Given the description of an element on the screen output the (x, y) to click on. 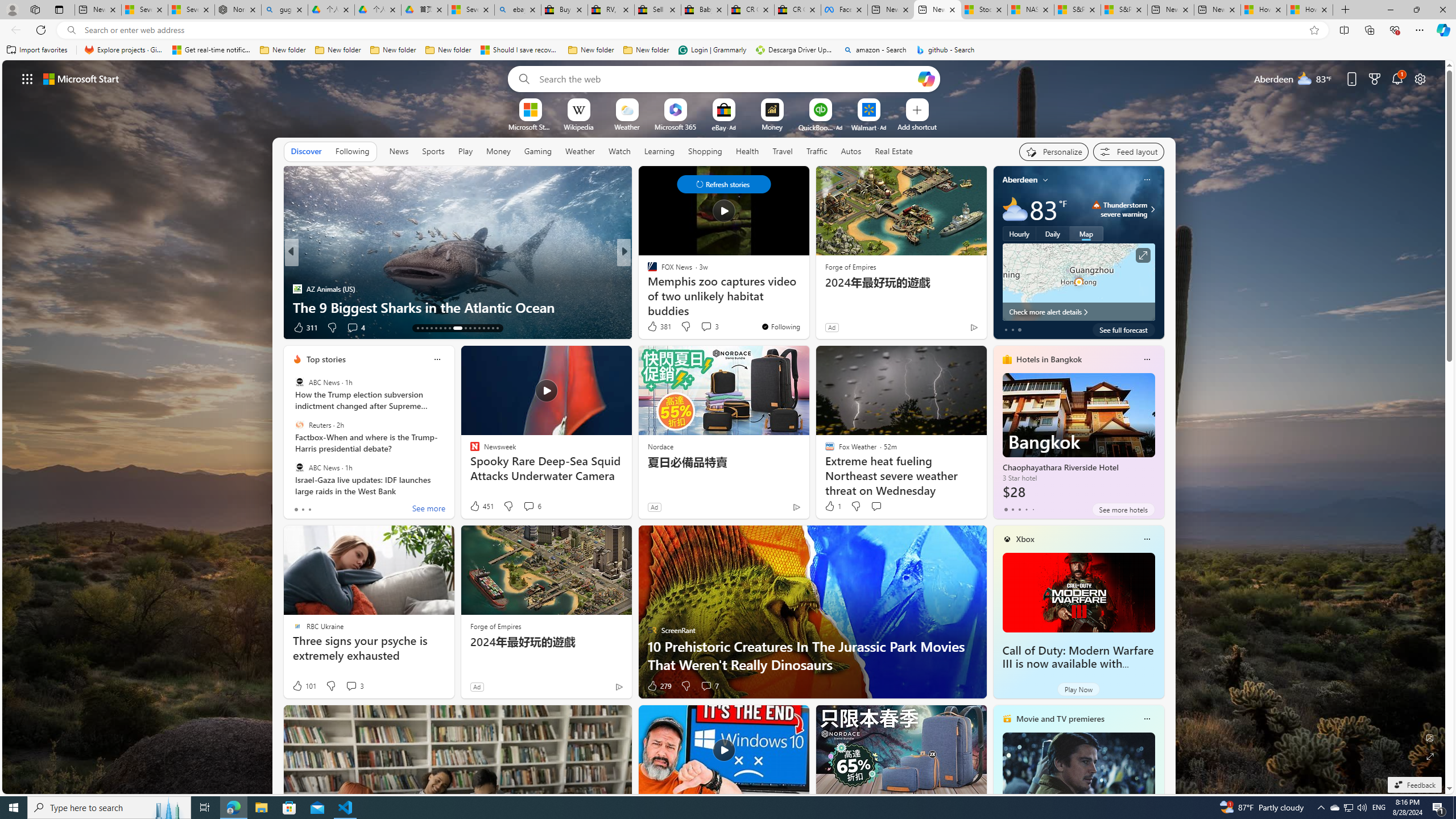
See more hotels (1123, 509)
View comments 1 Comment (349, 327)
Following (352, 151)
Class: control (723, 184)
192 Like (654, 327)
Back (13, 29)
Feedback (1414, 784)
Start the conversation (876, 505)
Sports (432, 151)
Discover (306, 151)
View comments 4 Comment (6, 327)
Notifications (1397, 78)
